Given the description of an element on the screen output the (x, y) to click on. 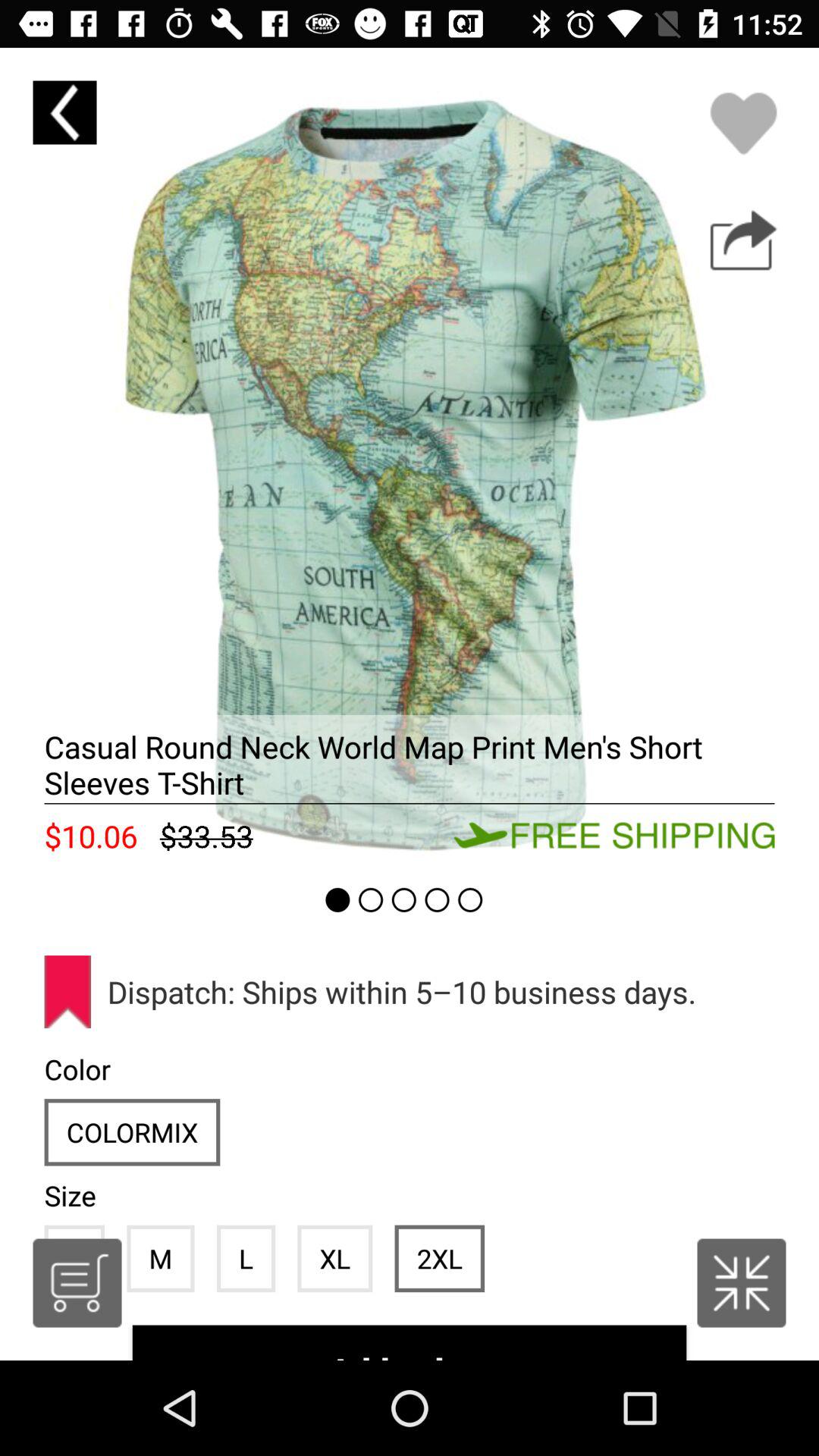
share the item (743, 240)
